Given the description of an element on the screen output the (x, y) to click on. 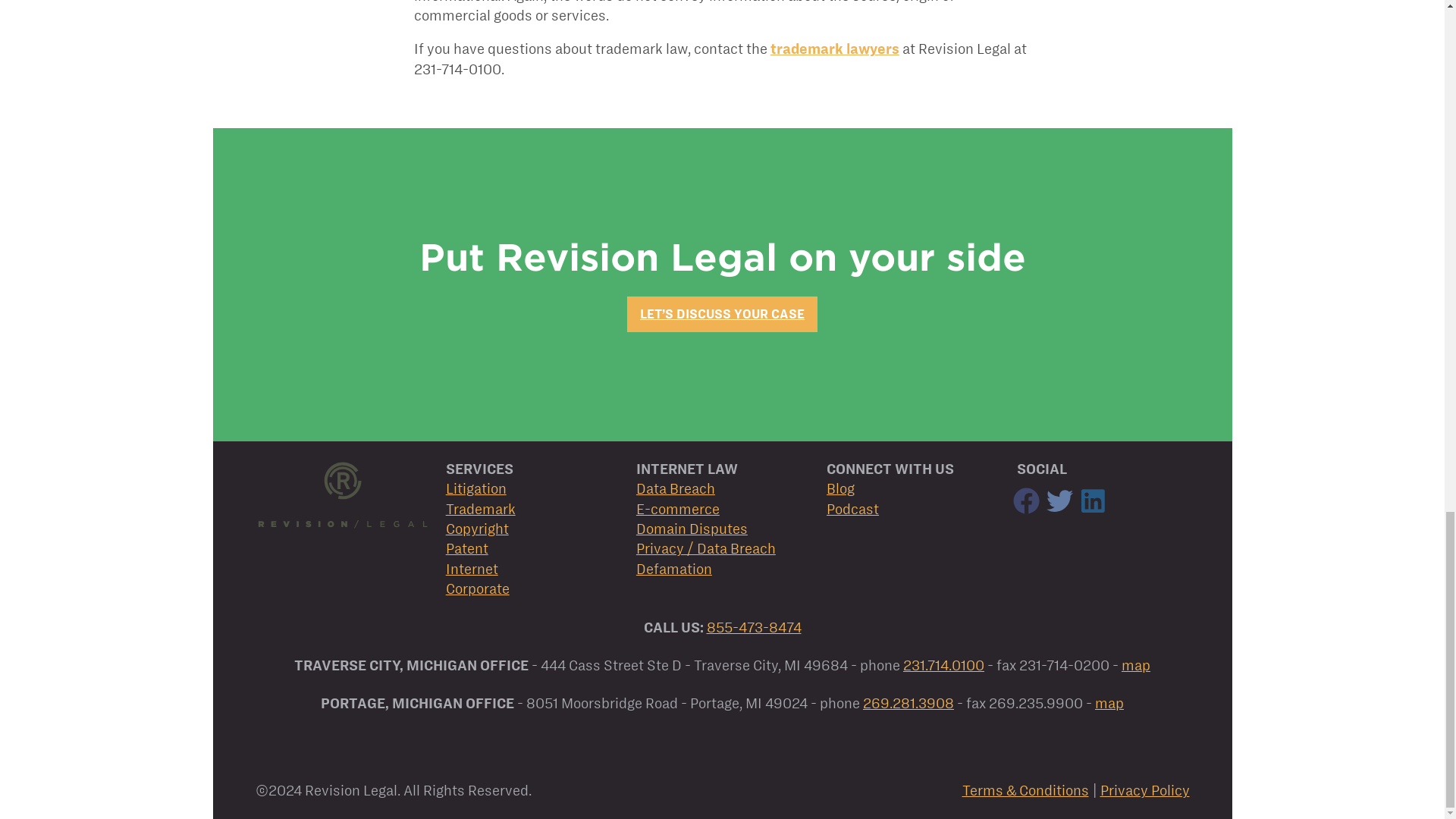
Corporate (477, 588)
E-commerce (677, 508)
trademark lawyers (834, 48)
Copyright (476, 528)
Data Breach (675, 488)
Defamation (673, 569)
Blog (840, 488)
Trademark (480, 508)
Patent (466, 548)
Podcast (853, 508)
Internet (471, 569)
Litigation (475, 488)
Domain Disputes (692, 528)
